Given the description of an element on the screen output the (x, y) to click on. 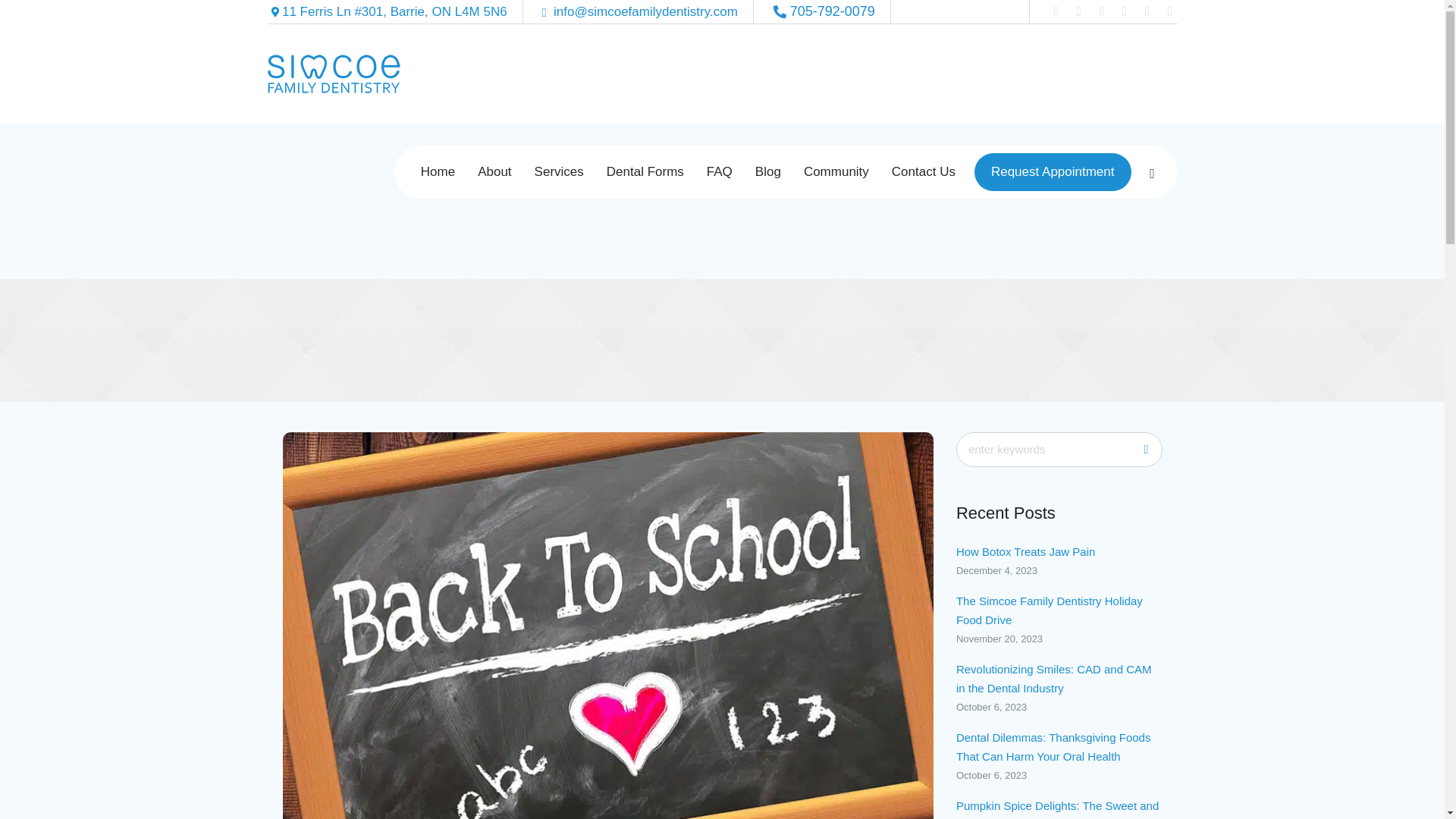
Twitter (1055, 11)
Google Reviews (1123, 11)
YouTube Channel (1146, 11)
Services (558, 172)
Facebook (1078, 11)
Home (437, 172)
Instagram (1100, 11)
Back To School: Healthy Lunch Choices For A Healthy Smile (607, 648)
Dental Forms (645, 172)
About (493, 172)
